Given the description of an element on the screen output the (x, y) to click on. 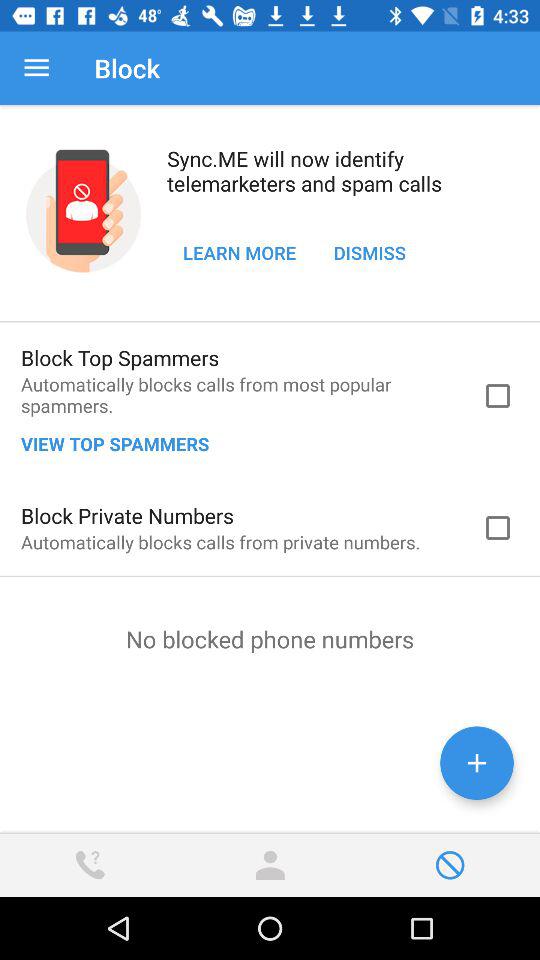
turn on icon next to the block (36, 68)
